Given the description of an element on the screen output the (x, y) to click on. 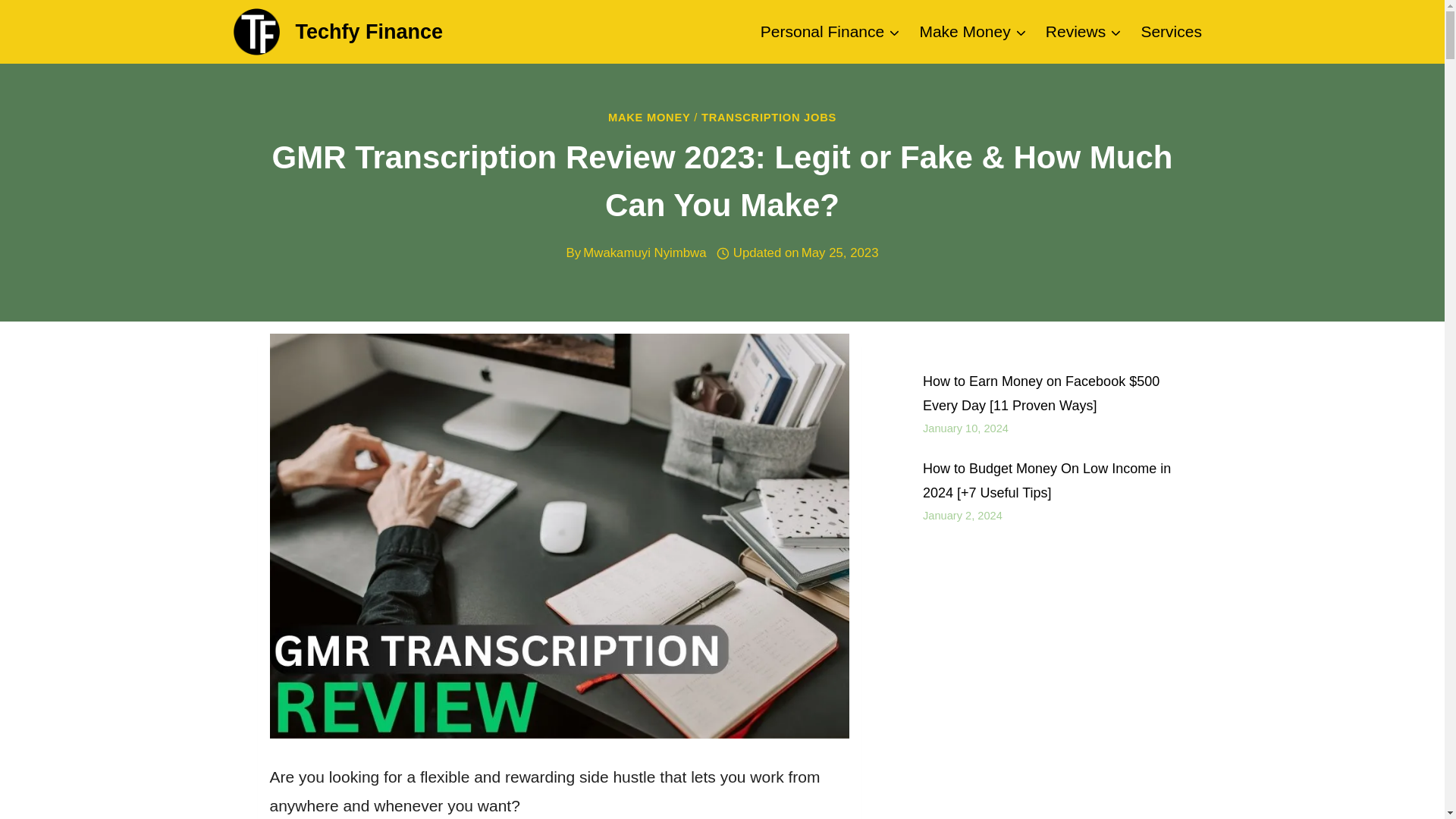
Reviews (1083, 31)
MAKE MONEY (649, 117)
TRANSCRIPTION JOBS (768, 117)
Make Money (972, 31)
Techfy Finance (338, 31)
Mwakamuyi Nyimbwa (644, 252)
Personal Finance (830, 31)
Services (1171, 31)
